Given the description of an element on the screen output the (x, y) to click on. 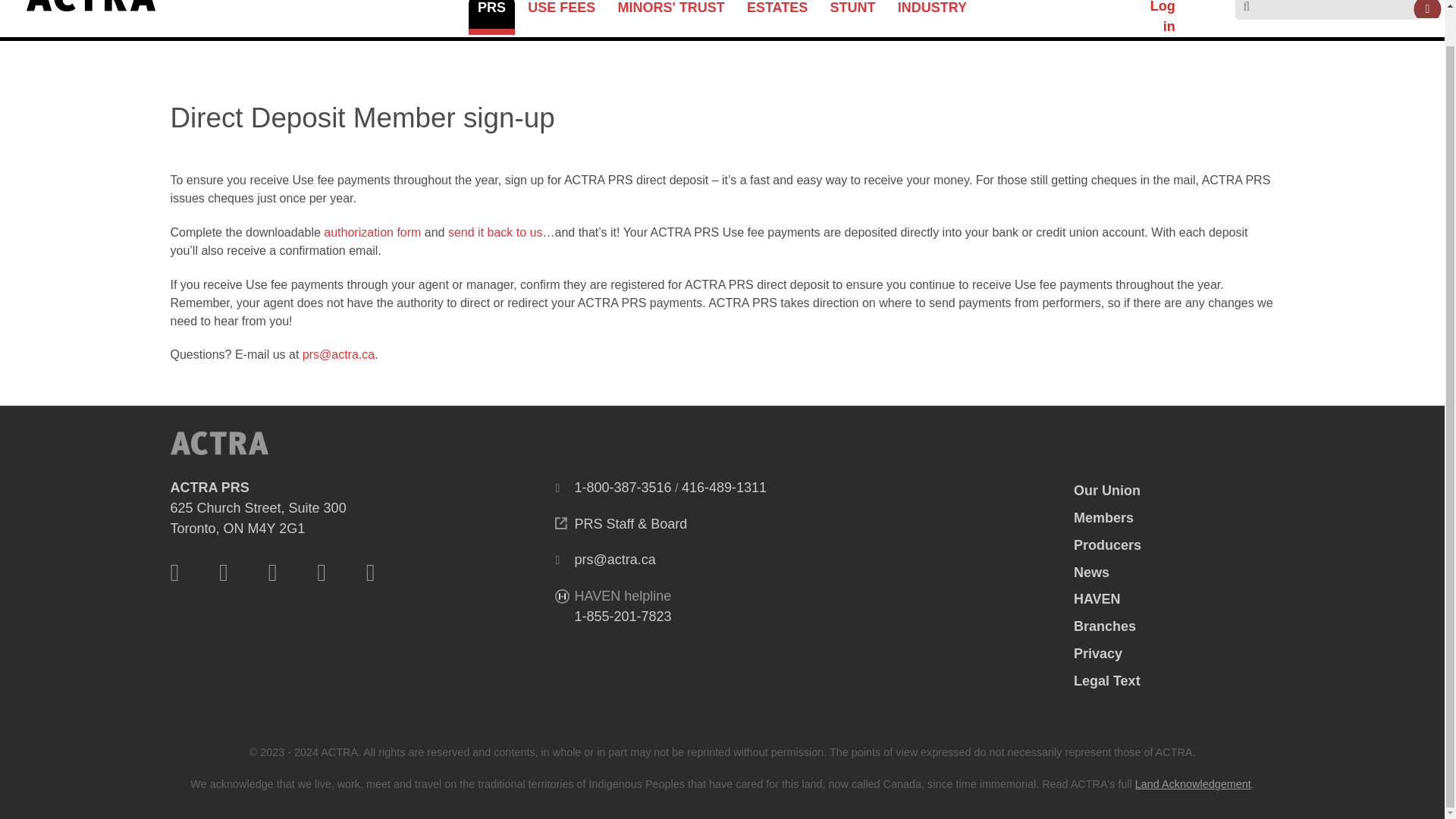
HAVEN (1097, 598)
Legal Text (1107, 680)
Producers (1107, 544)
send it back to us (495, 232)
authorization form (371, 232)
News (1091, 572)
USE FEES (561, 11)
Members (1104, 517)
Our Union (1107, 490)
Branches (258, 507)
Privacy (1104, 626)
STUNT (1098, 653)
ESTATES (853, 11)
